Given the description of an element on the screen output the (x, y) to click on. 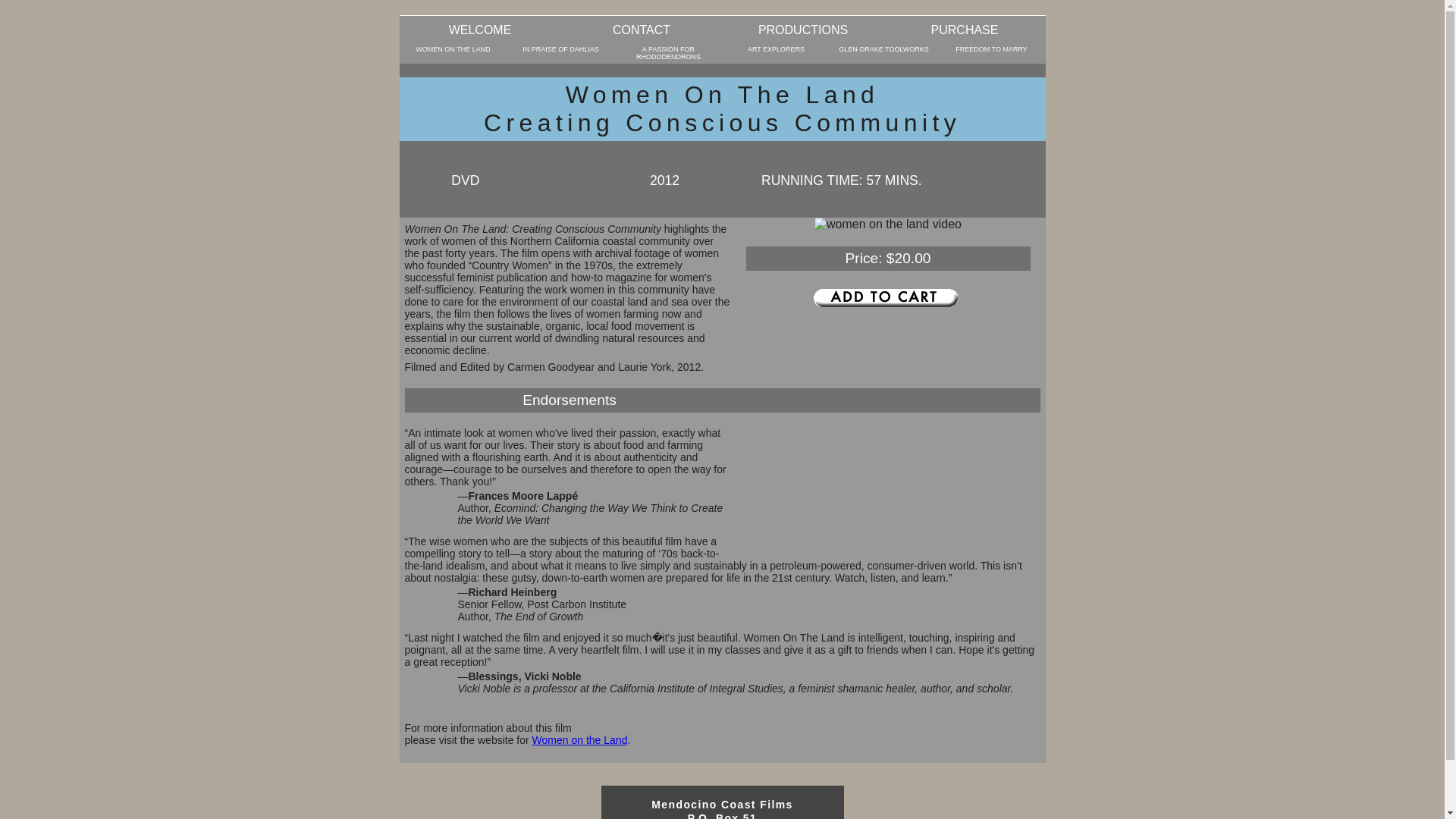
CONTACT (641, 28)
ART EXPLORERS (775, 52)
FREEDOM TO MARRY (991, 52)
GLEN-DRAKE TOOLWORKS (883, 52)
IN PRAISE OF DAHLIAS (560, 52)
Women on the Land (579, 739)
PURCHASE (964, 28)
A PASSION FOR RHODODENDRONS (668, 52)
WELCOME (479, 28)
PRODUCTIONS (802, 28)
WOMEN ON THE LAND (452, 52)
